Given the description of an element on the screen output the (x, y) to click on. 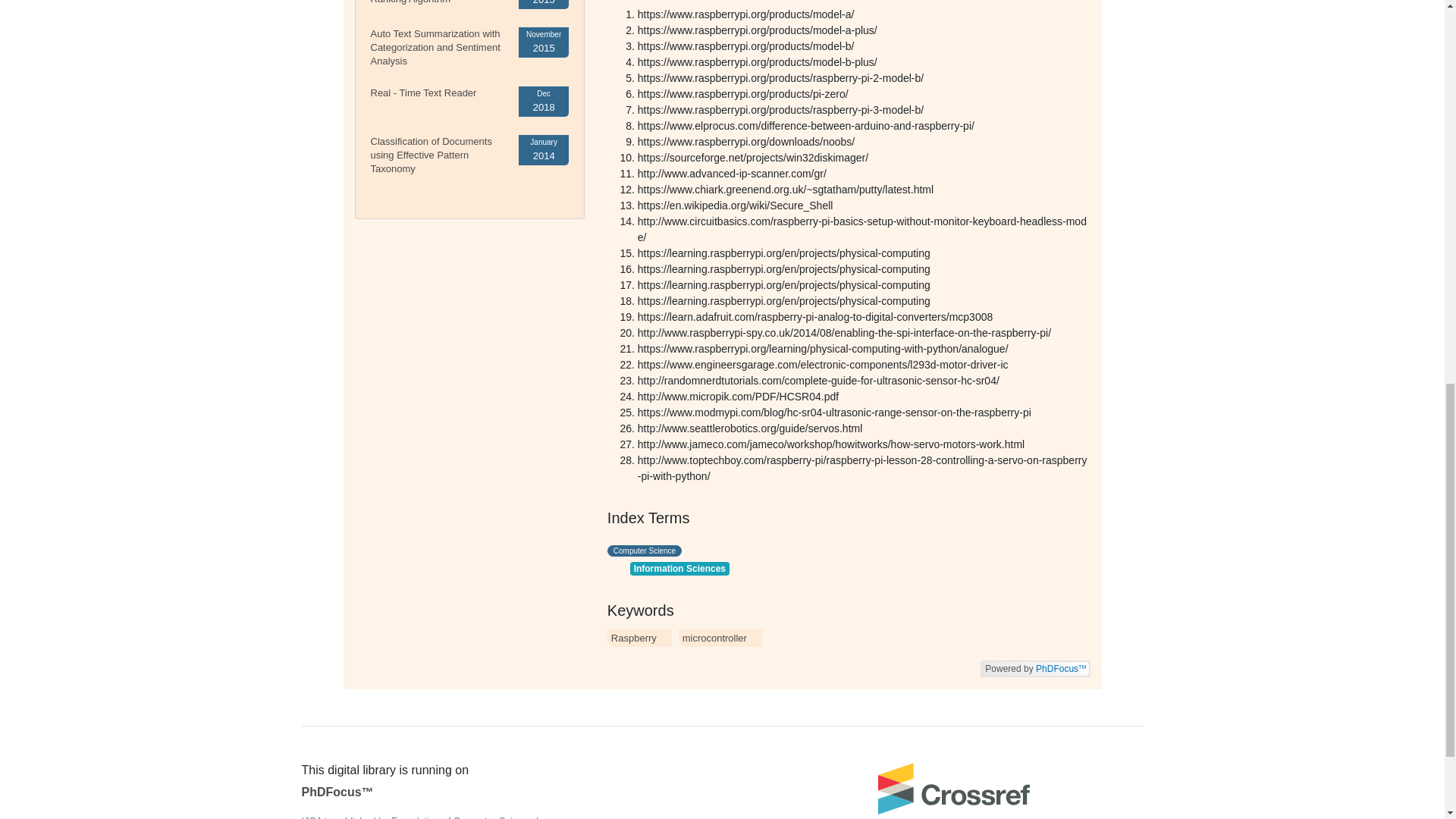
Classification of Documents using Effective Pattern Taxonomy (430, 154)
A Score based Web Page Ranking Algorithm (426, 2)
Real - Time Text Reader (422, 92)
